Given the description of an element on the screen output the (x, y) to click on. 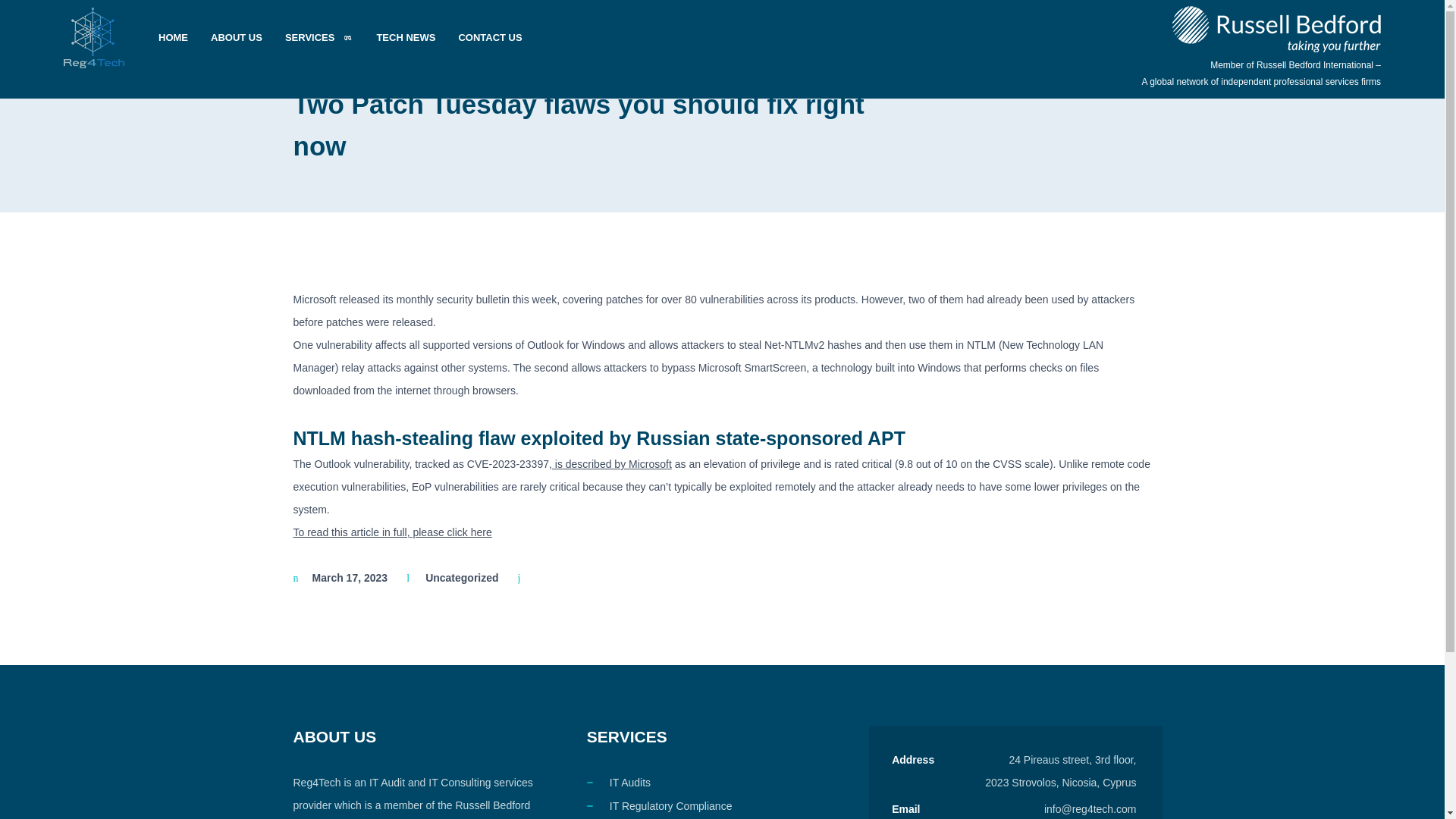
is described by Microsoft (611, 463)
TECH NEWS (405, 38)
CONTACT US (489, 38)
ABOUT US (236, 38)
IT Regulatory Compliance (671, 806)
Uncategorized (461, 577)
To read this article in full, please click here (392, 532)
SERVICES (319, 38)
IT Audits (630, 782)
March 17, 2023 (350, 577)
